Given the description of an element on the screen output the (x, y) to click on. 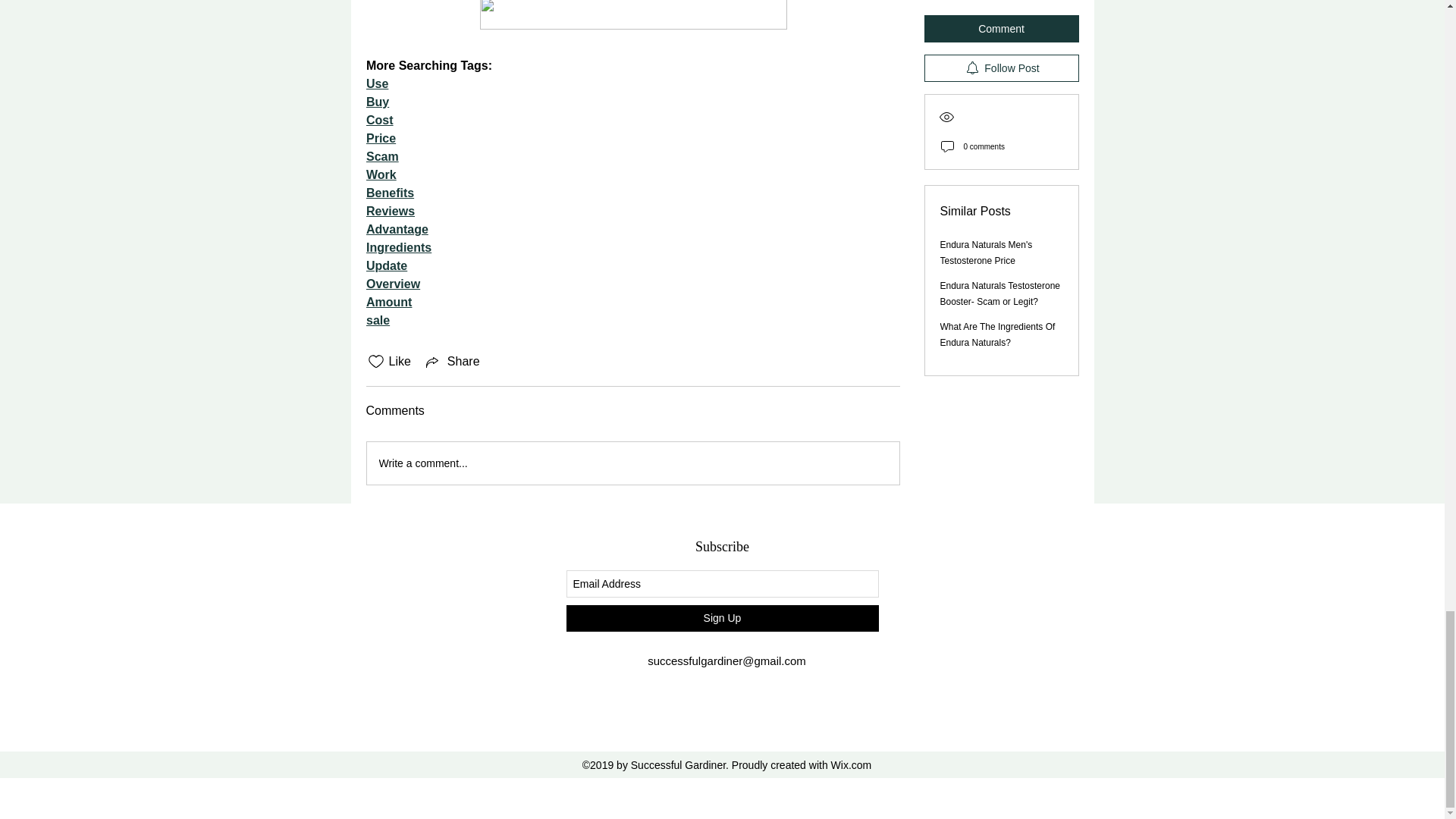
Scam (381, 155)
Update (385, 265)
Buy (376, 101)
Work (380, 174)
Advantage (396, 228)
Benefits (389, 192)
Share (451, 361)
Use (376, 83)
Ingredients (397, 246)
Reviews (389, 210)
